Given the description of an element on the screen output the (x, y) to click on. 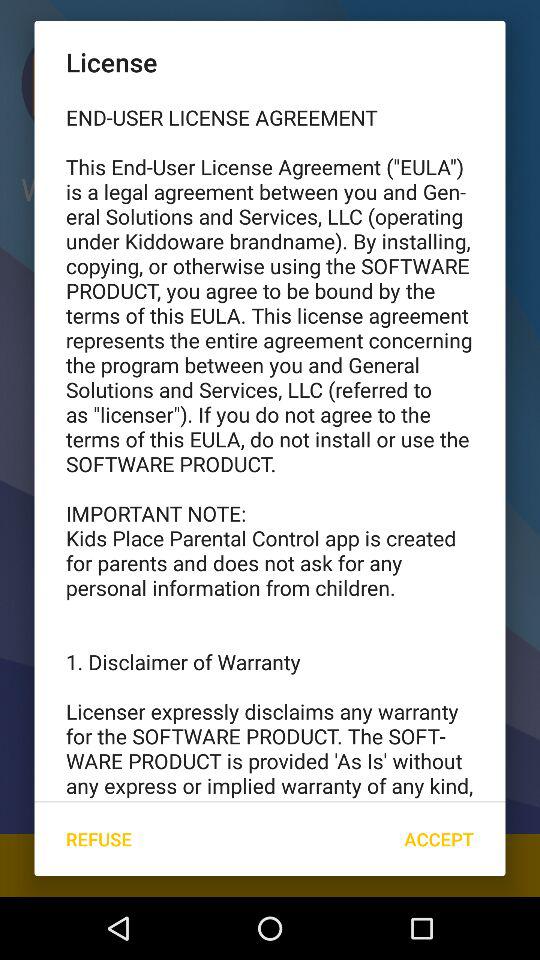
launch item below the end user license icon (98, 838)
